Given the description of an element on the screen output the (x, y) to click on. 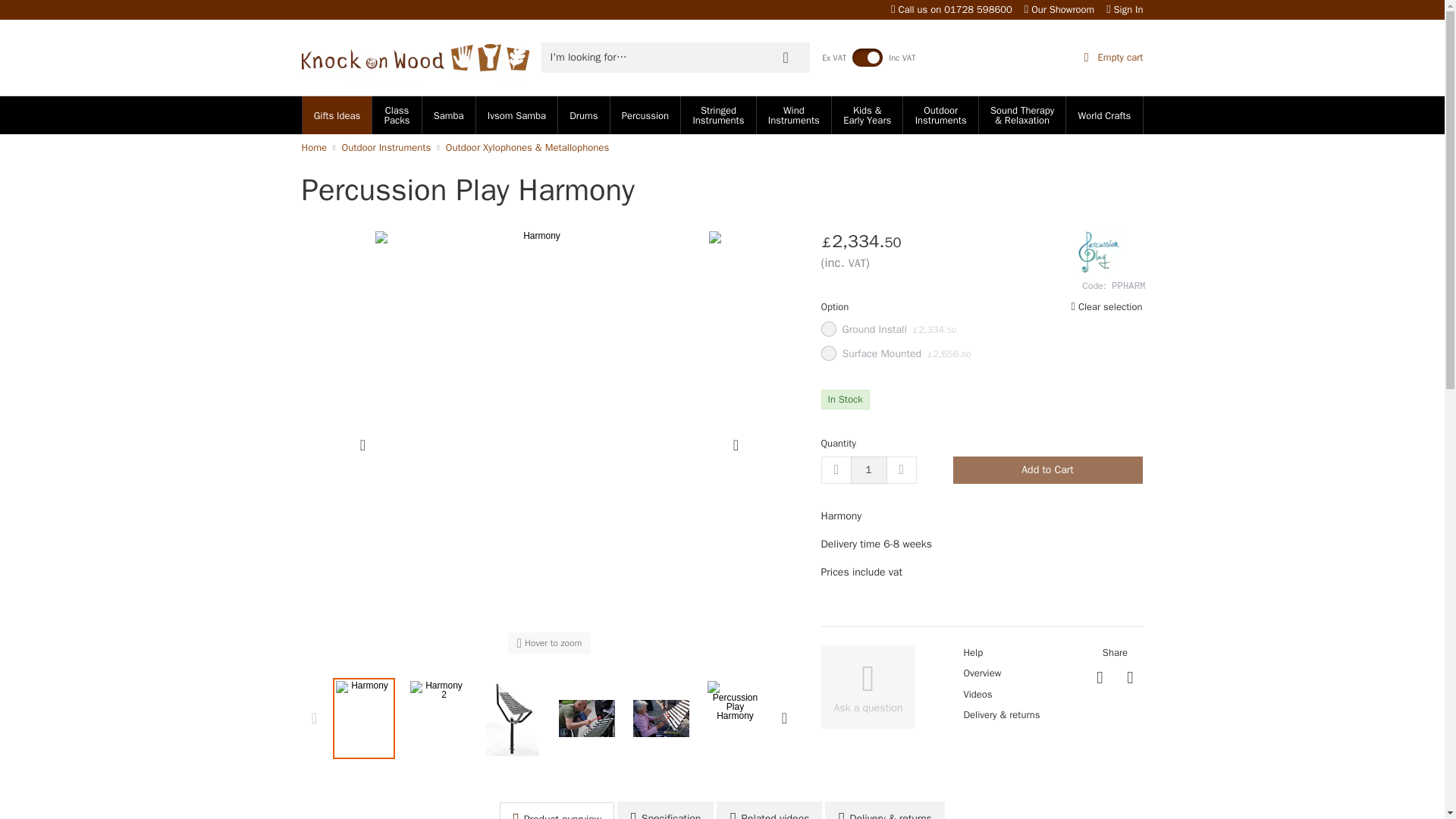
Search (785, 57)
Facebook (1099, 677)
Empty cart (1028, 57)
Percussion Play (1099, 251)
1 (868, 470)
Sign In (1124, 9)
Your cart (1028, 57)
Knock on Wood (415, 57)
Twitter (1129, 677)
Knock on Wood (415, 57)
